Given the description of an element on the screen output the (x, y) to click on. 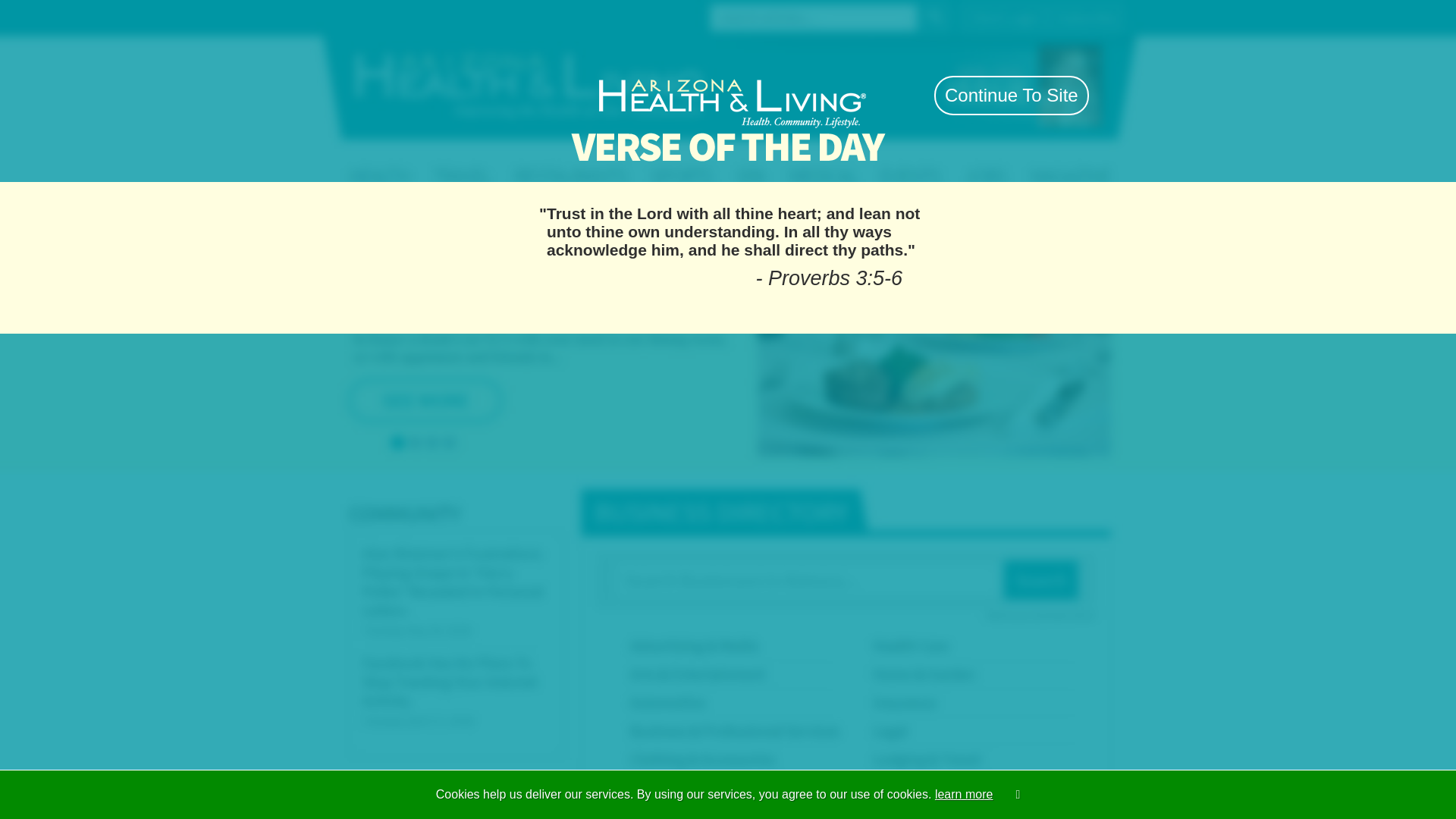
TRAVEL (658, 160)
FOOD (771, 160)
Join Community (965, 16)
Home (396, 16)
EVENTS (986, 160)
HEALTH (424, 160)
View Trending Stories (780, 205)
close (899, 56)
List, Post and Share (727, 128)
Sign In (1047, 16)
LIVING (541, 160)
view issue (975, 93)
Contact Us (442, 16)
BLOG (1101, 160)
SHOP (872, 160)
